Given the description of an element on the screen output the (x, y) to click on. 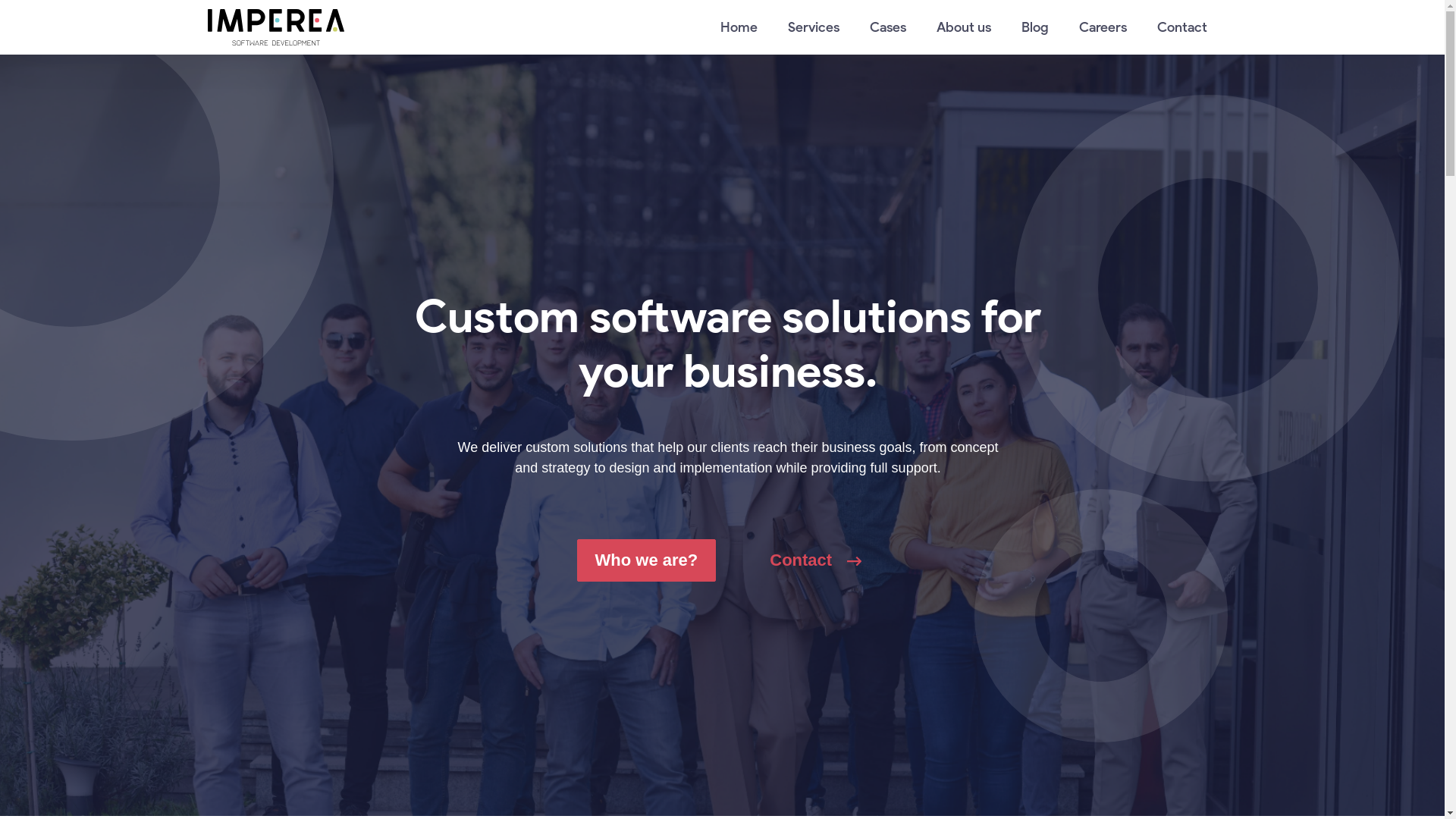
Cases Element type: text (886, 26)
Contact Element type: text (1182, 26)
Careers Element type: text (1102, 26)
Services Element type: text (812, 26)
Contact Element type: text (815, 559)
Who we are? Element type: text (646, 560)
About us Element type: text (962, 26)
Home Element type: text (738, 26)
Blog Element type: text (1034, 26)
